Given the description of an element on the screen output the (x, y) to click on. 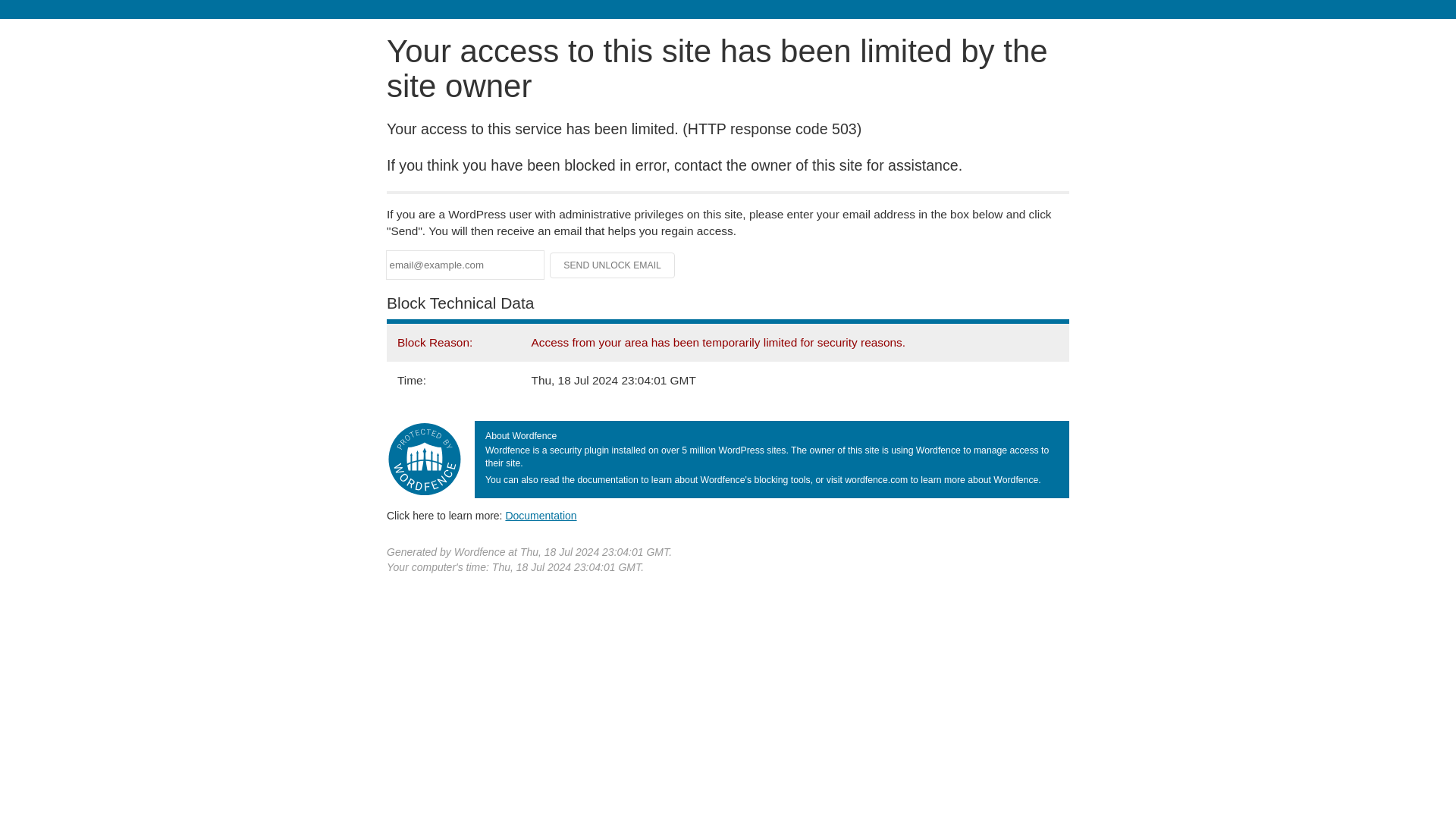
Documentation (540, 515)
Send Unlock Email (612, 265)
Send Unlock Email (612, 265)
